Given the description of an element on the screen output the (x, y) to click on. 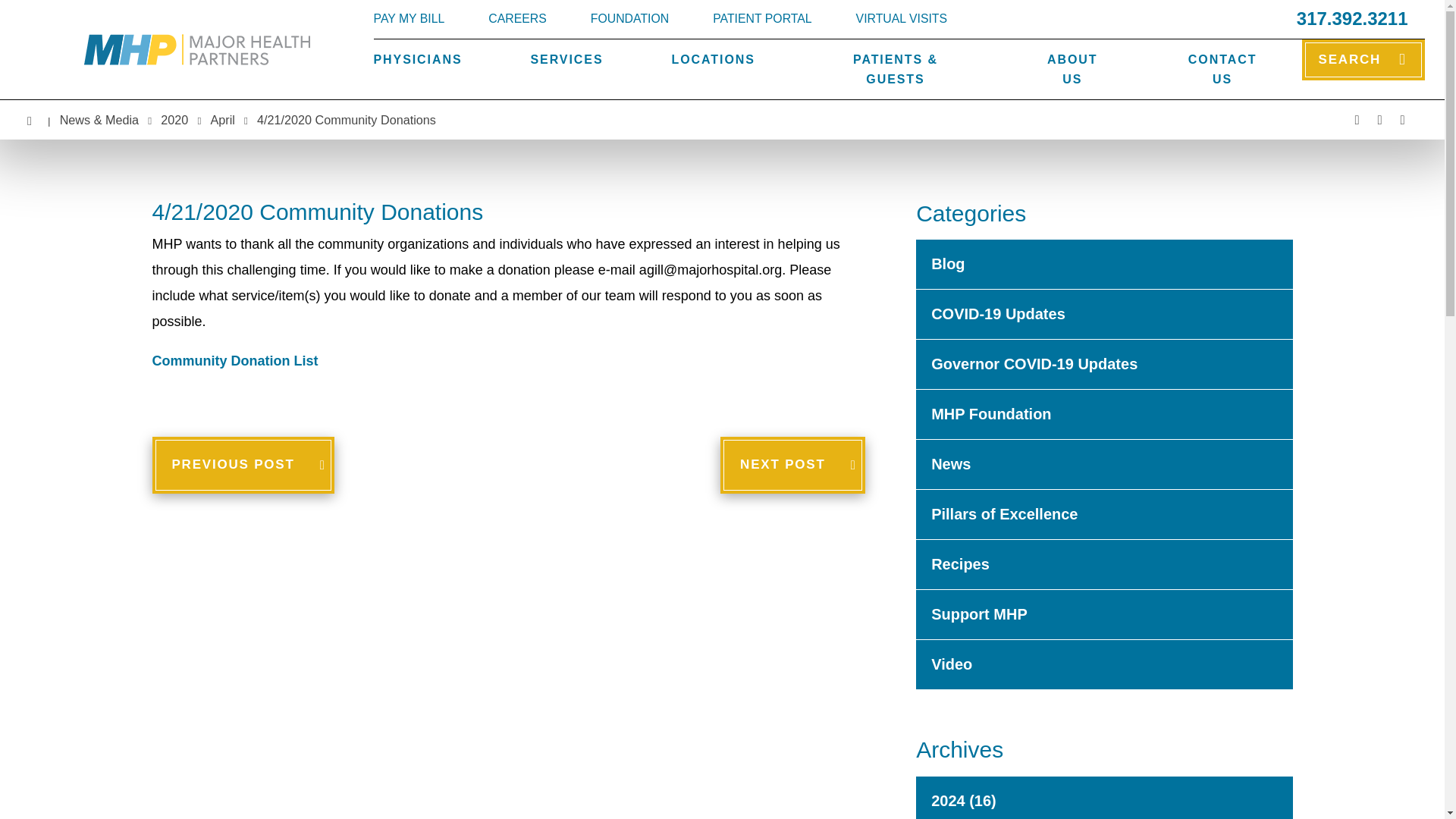
PATIENT PORTAL (761, 19)
CONTACT US (1222, 69)
ABOUT US (1071, 69)
LOCATIONS (713, 59)
317.392.3211 (1352, 18)
PHYSICIANS (416, 59)
PAY MY BILL (408, 19)
Refer a Friend (1401, 119)
FOUNDATION (629, 19)
SERVICES (567, 59)
VIRTUAL VISITS (901, 19)
CAREERS (517, 19)
Major Health Partners (195, 49)
